Given the description of an element on the screen output the (x, y) to click on. 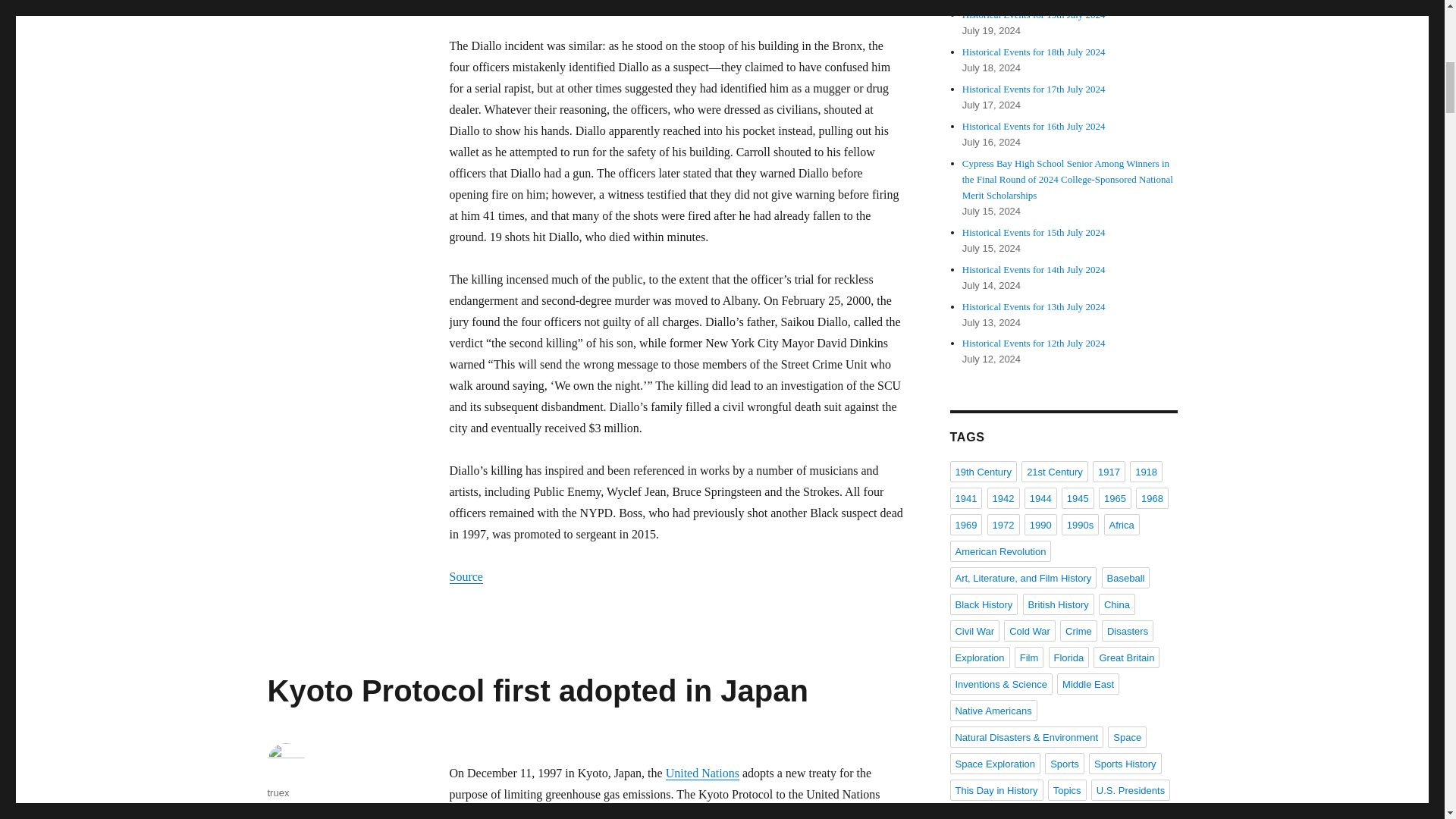
United Nations (702, 772)
Source (464, 576)
April 7, 2020 (293, 813)
truex (277, 792)
Kyoto Protocol first adopted in Japan (537, 690)
